Given the description of an element on the screen output the (x, y) to click on. 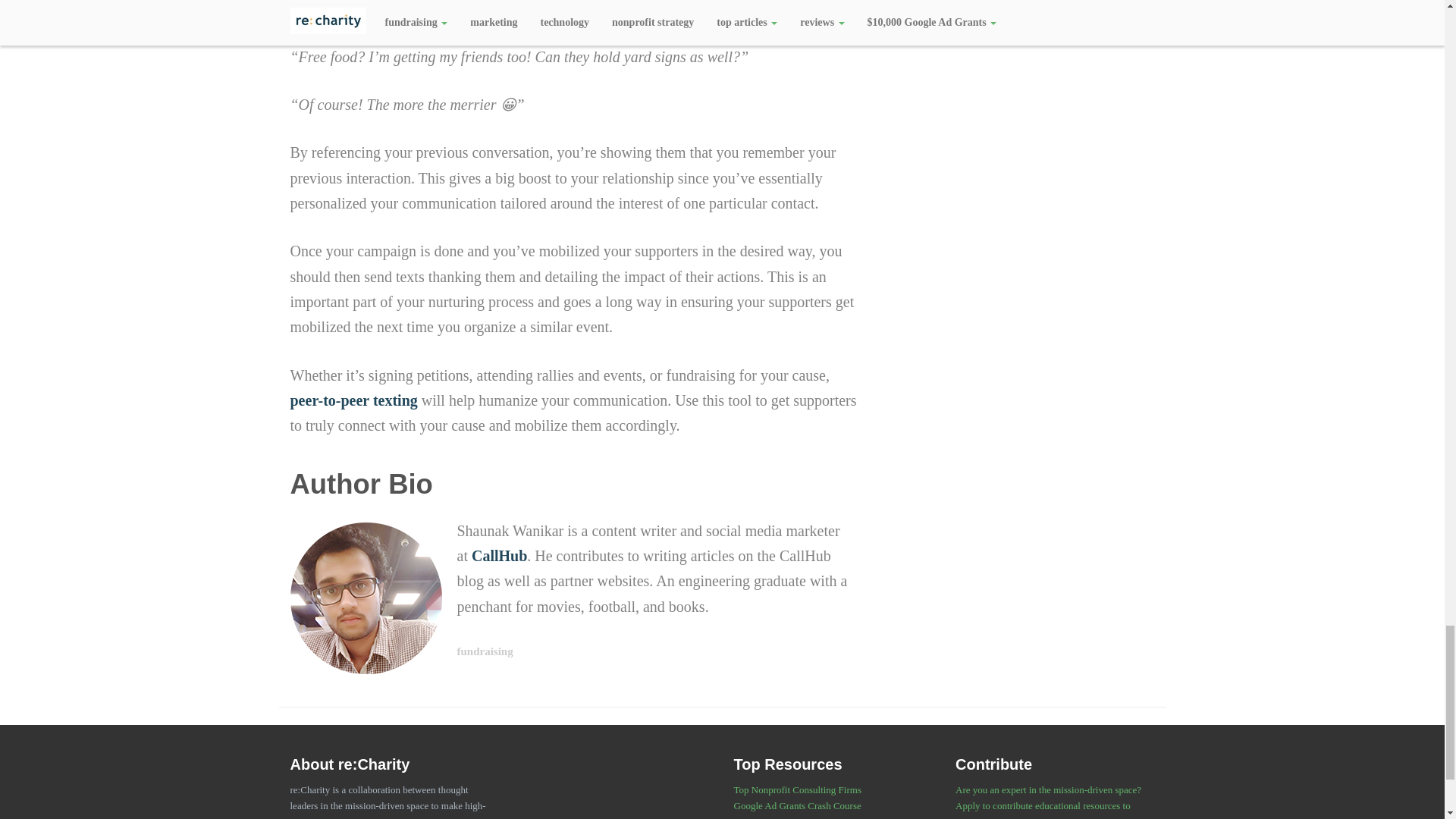
CallHub (499, 555)
peer-to-peer texting (352, 400)
fundraising (484, 651)
